Given the description of an element on the screen output the (x, y) to click on. 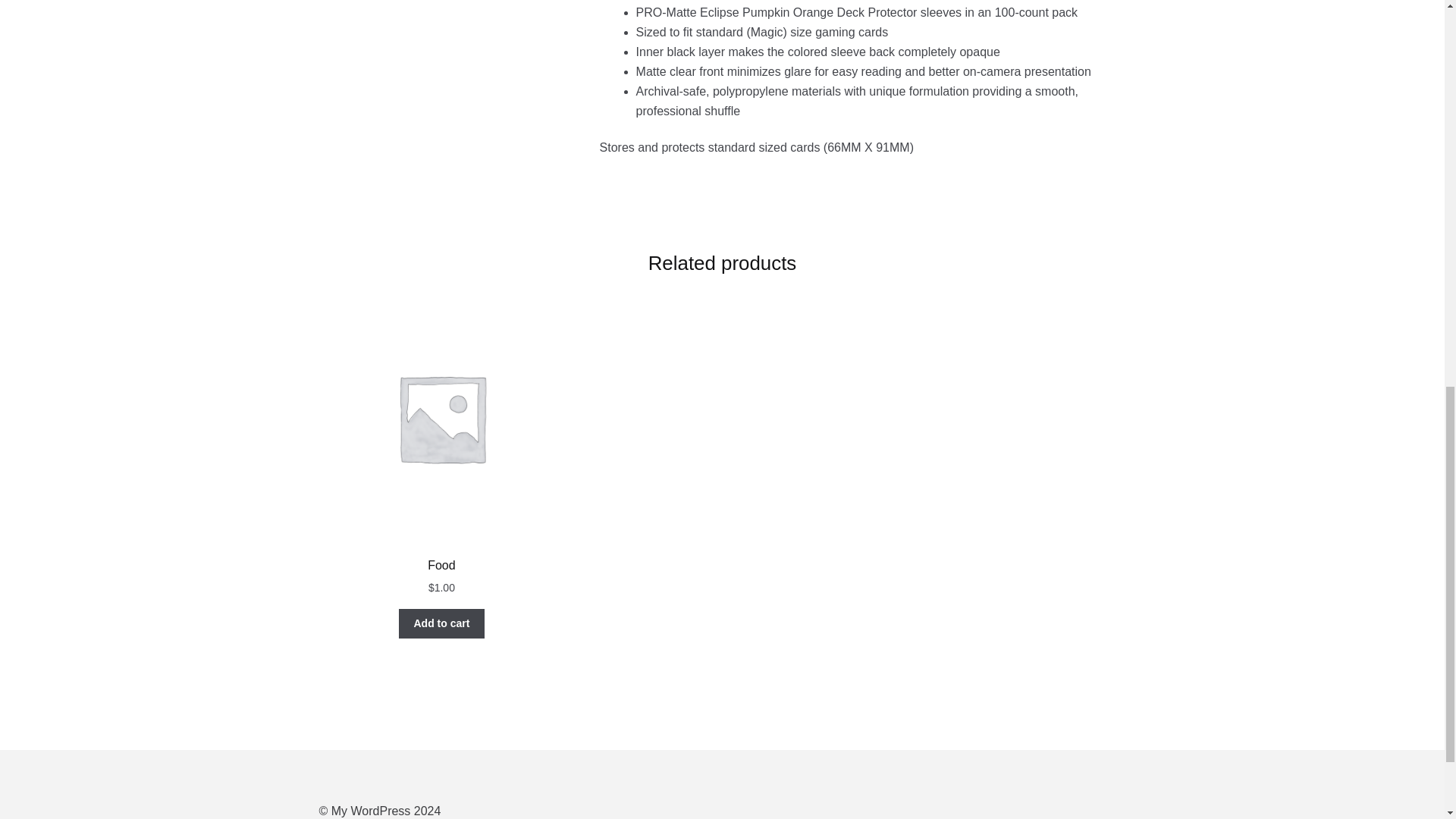
Add to cart (441, 624)
